Given the description of an element on the screen output the (x, y) to click on. 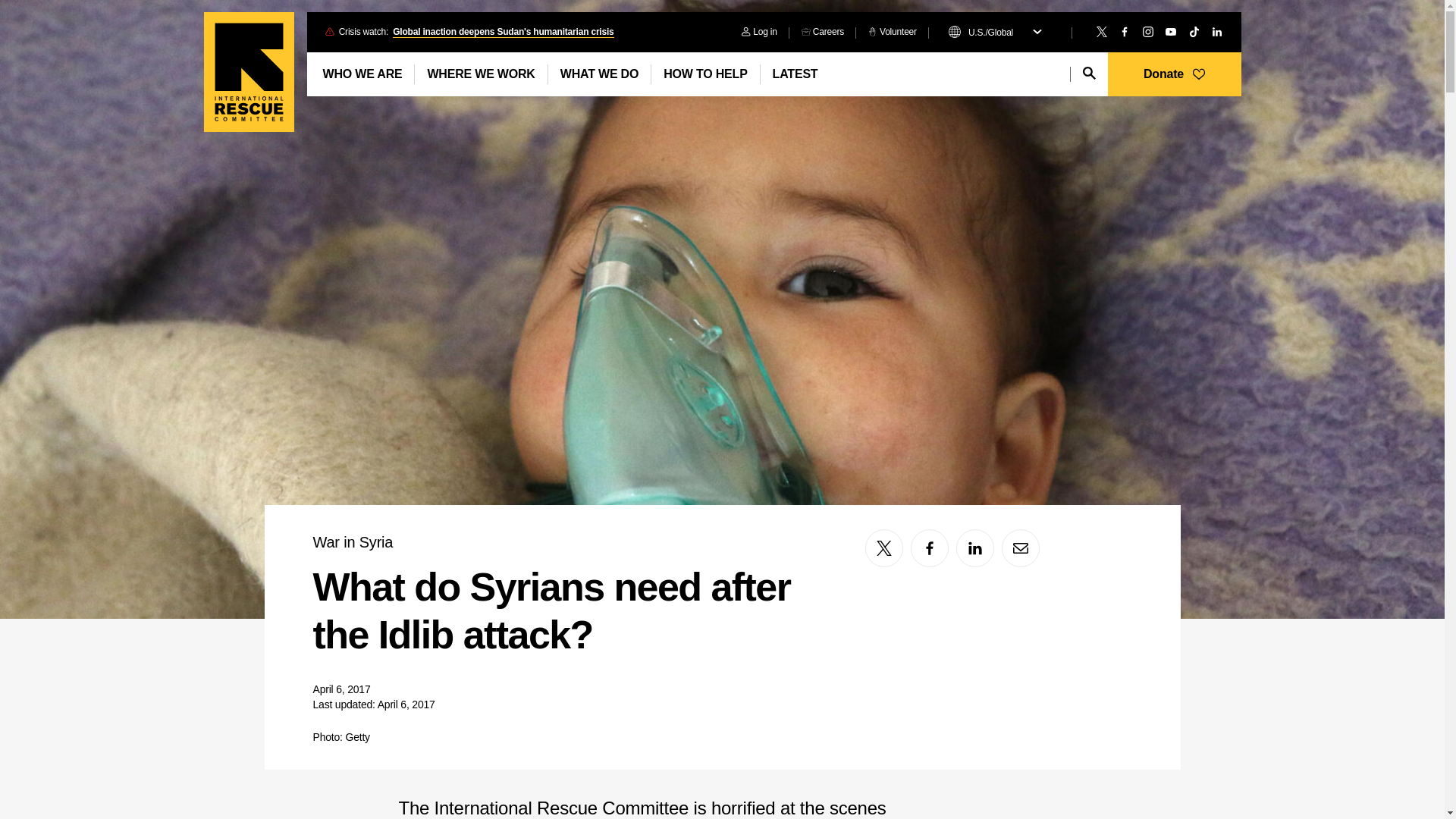
WHERE WE WORK (480, 74)
Volunteer (892, 32)
tiktok (1194, 31)
twitter (1101, 31)
linked-in (975, 548)
mail (1020, 548)
Careers (822, 32)
search (1089, 72)
Log in (759, 32)
